Given the description of an element on the screen output the (x, y) to click on. 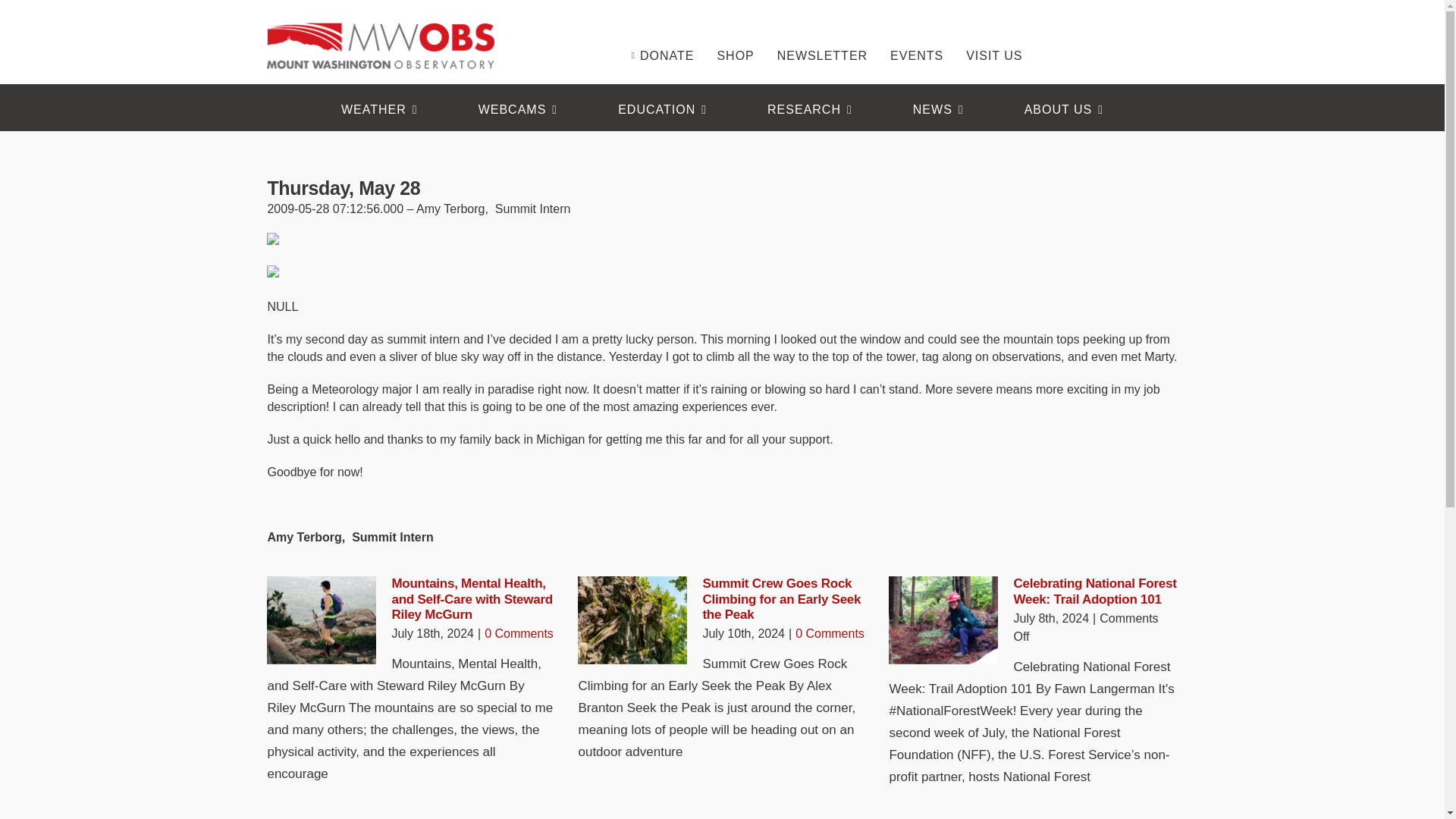
WEBCAMS (518, 109)
DONATE (660, 33)
NEWSLETTER (822, 33)
EDUCATION (662, 109)
WEATHER (379, 109)
